Given the description of an element on the screen output the (x, y) to click on. 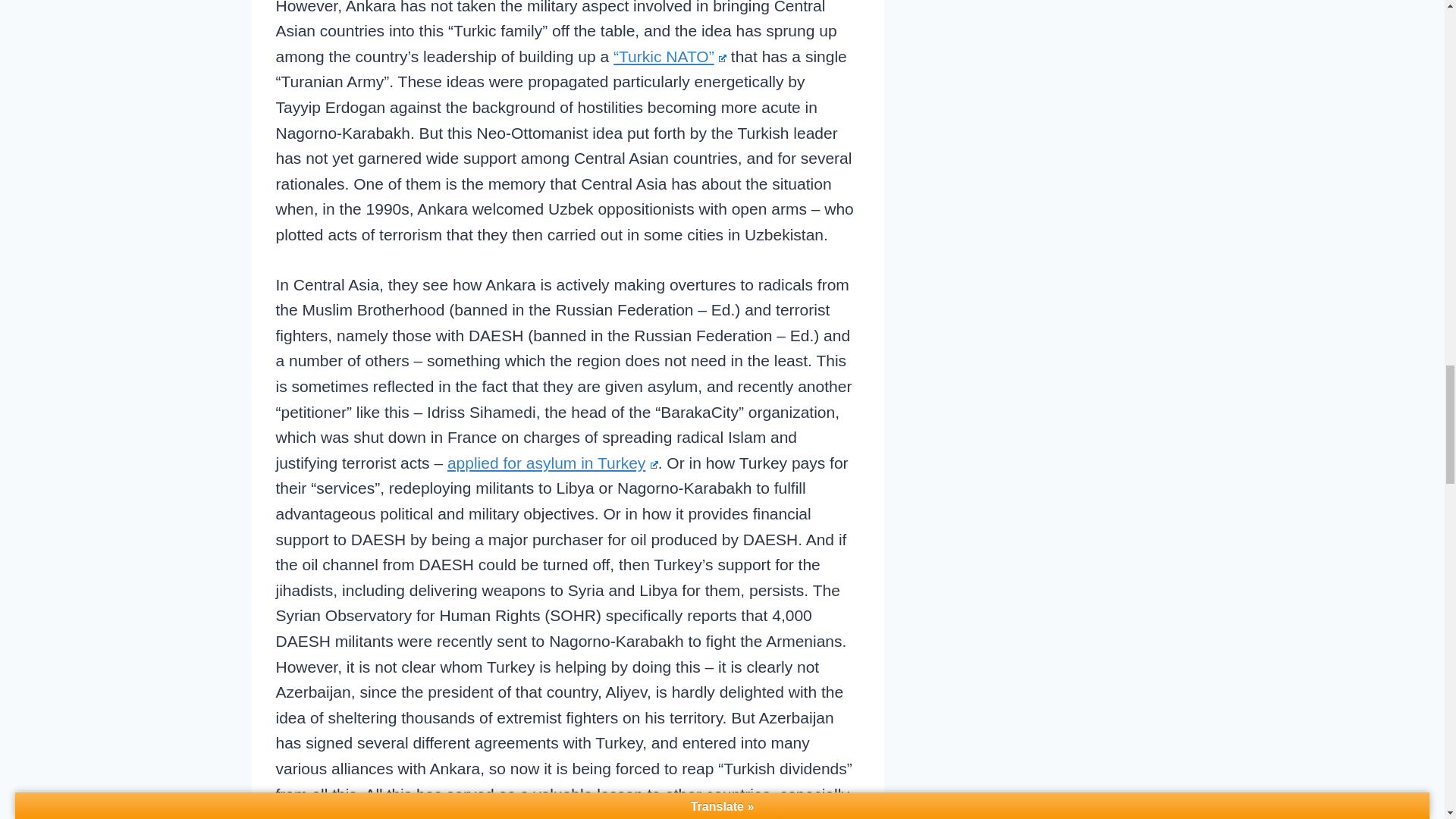
applied for asylum in Turkey (552, 462)
